Given the description of an element on the screen output the (x, y) to click on. 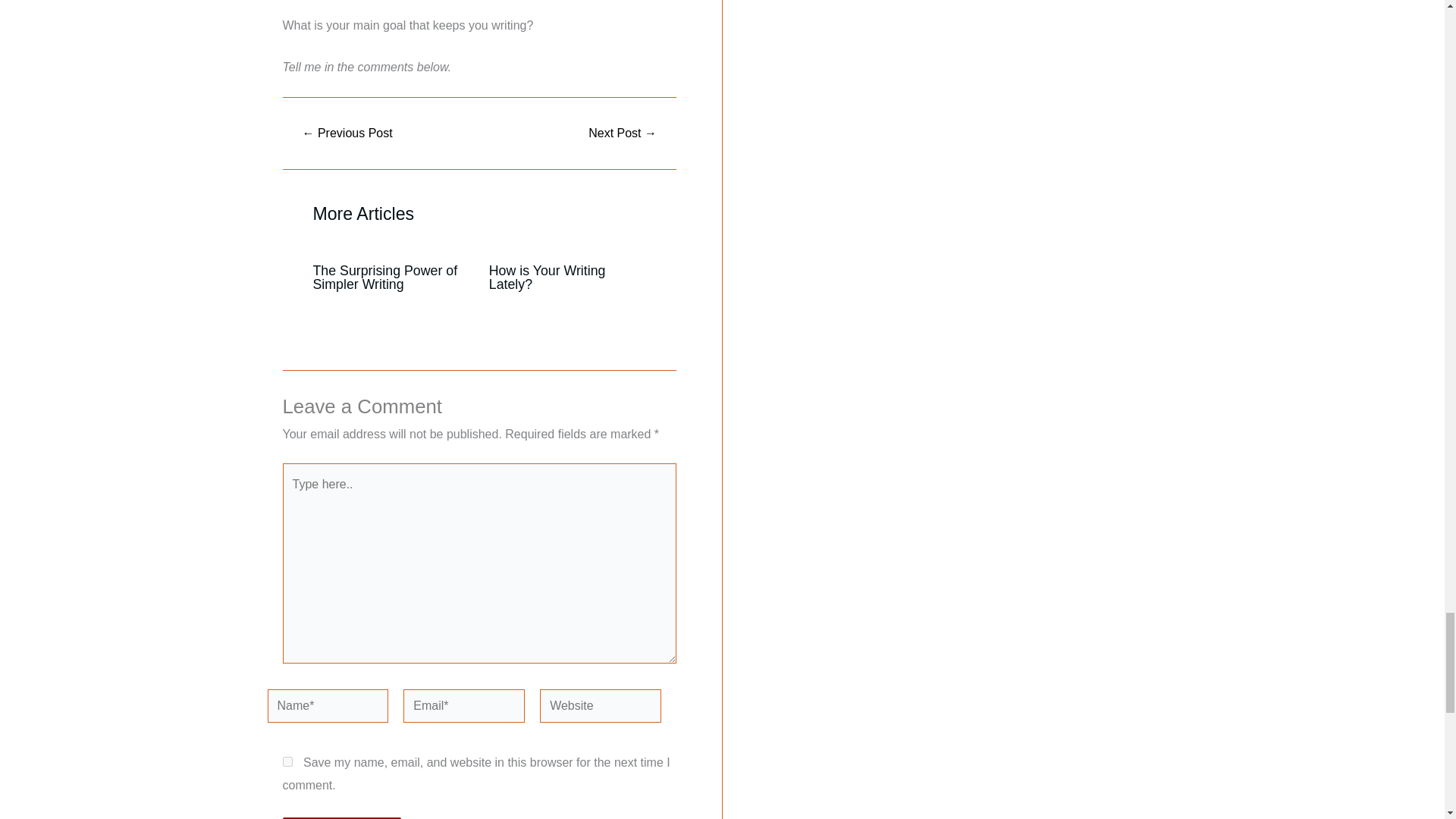
How to Write Better Heroes and Protagonists (622, 133)
yes (287, 761)
13 Smart Shortcuts to Write Brilliant Characters (346, 133)
